Given the description of an element on the screen output the (x, y) to click on. 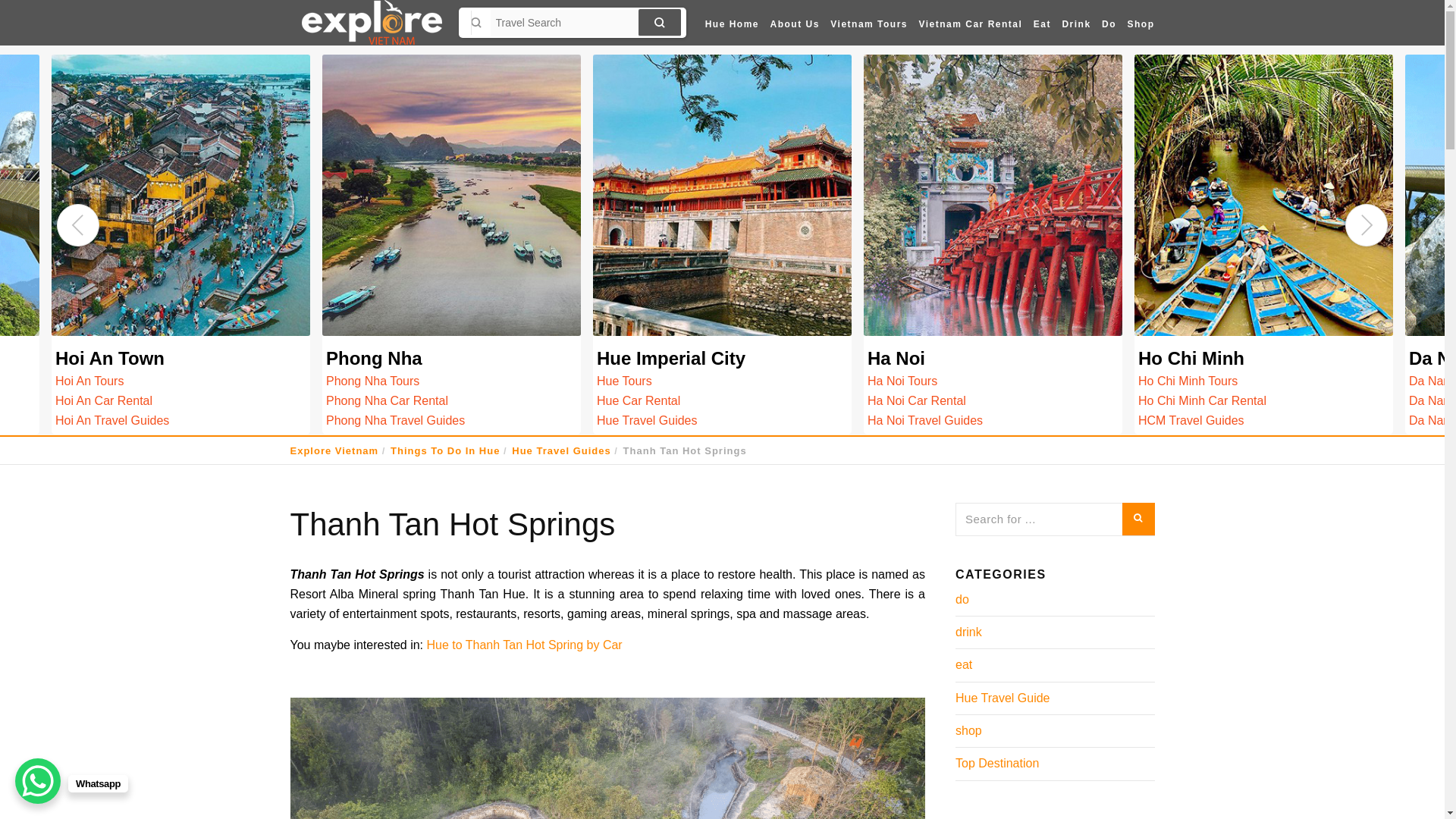
Shop (1139, 23)
Eat (1041, 23)
Previous (77, 224)
About Us (793, 23)
Drink (1076, 23)
Hue Home (731, 23)
Vietnam Car Rental (970, 23)
Vietnam Tours (869, 23)
